Given the description of an element on the screen output the (x, y) to click on. 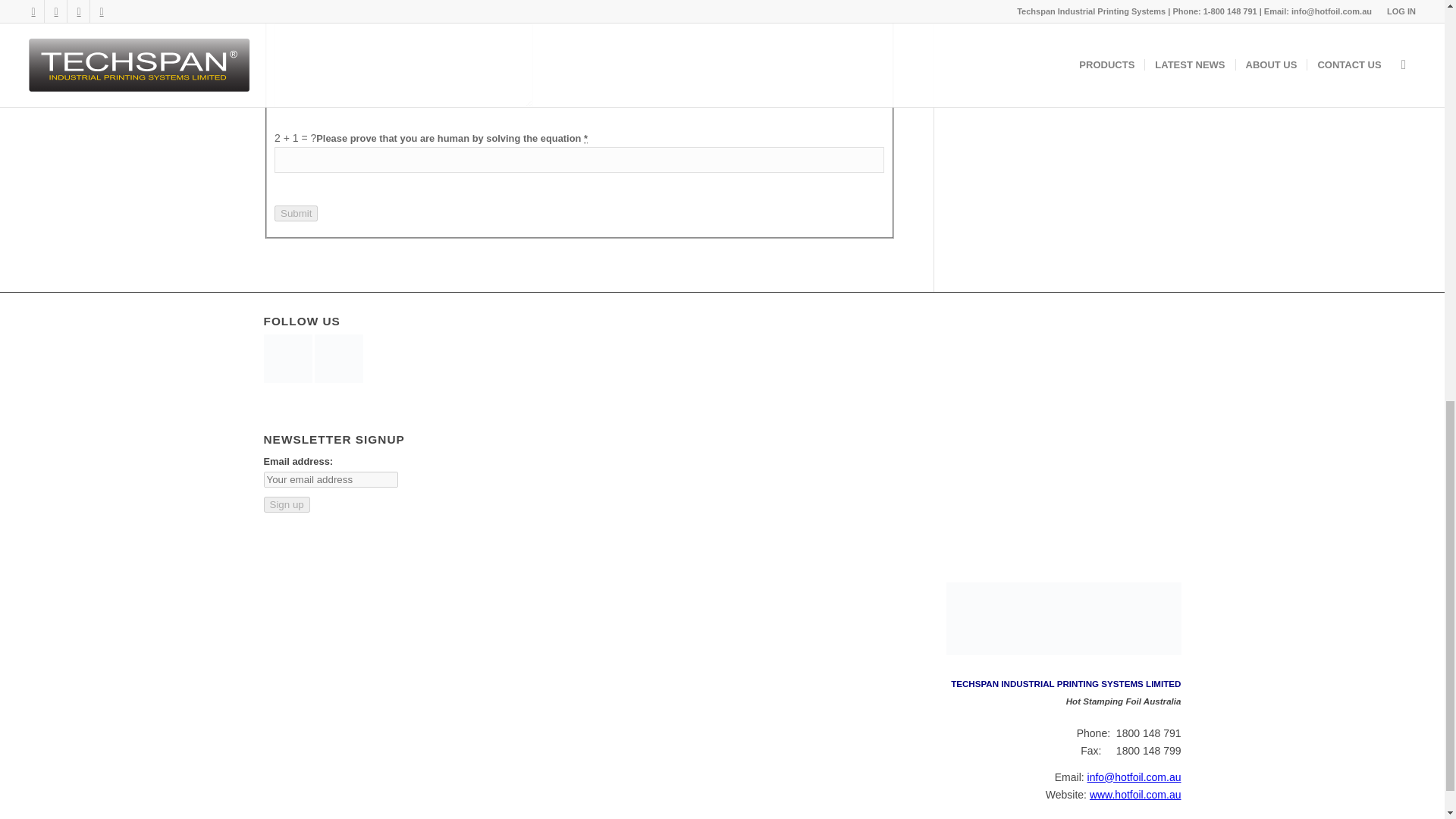
Submit (296, 213)
Submit (296, 213)
TSC Label Printers Youtube Channel by Techspan (288, 378)
Sign up (286, 504)
